Given the description of an element on the screen output the (x, y) to click on. 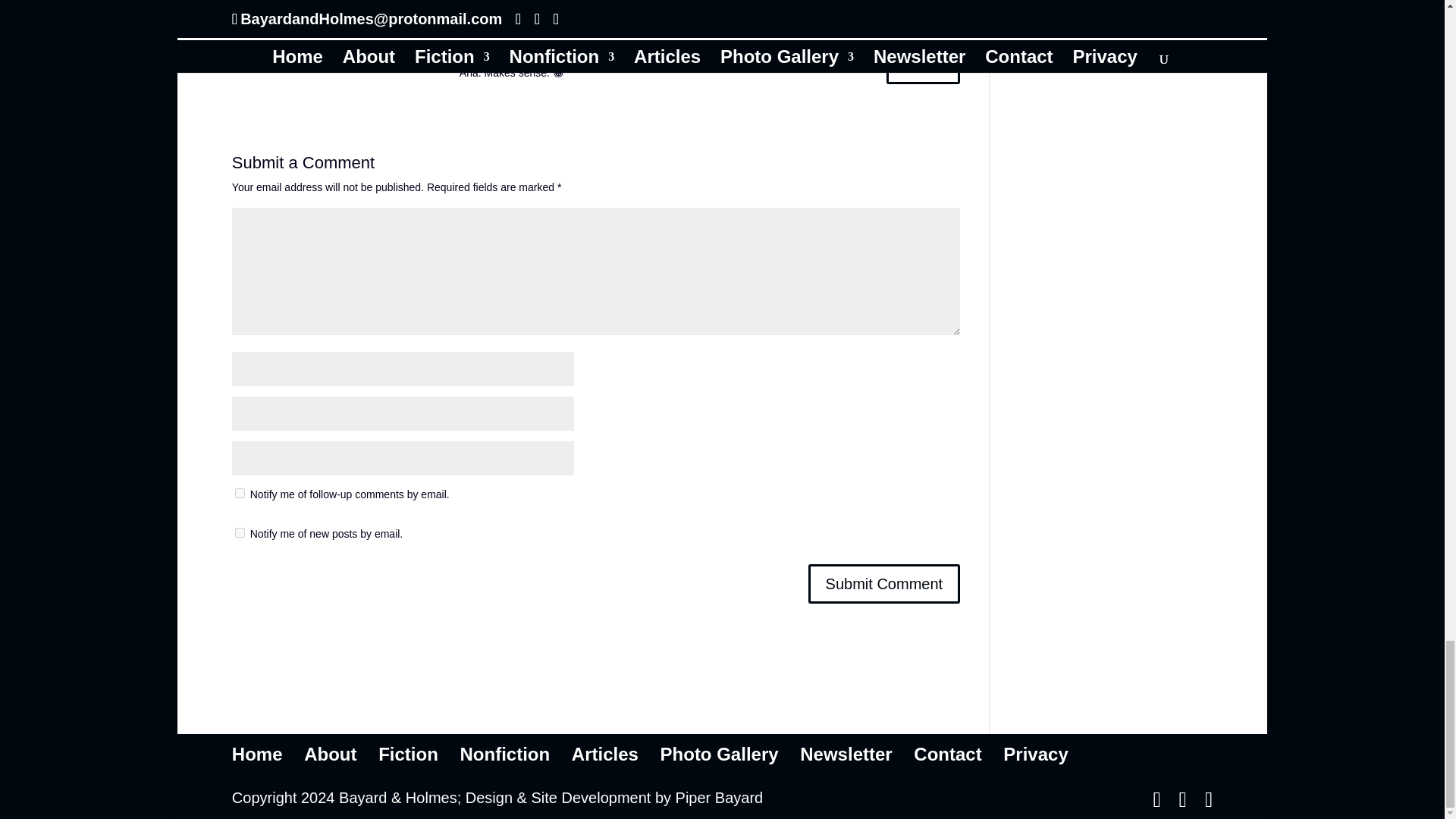
Submit Comment (884, 583)
subscribe (239, 492)
subscribe (239, 532)
